Given the description of an element on the screen output the (x, y) to click on. 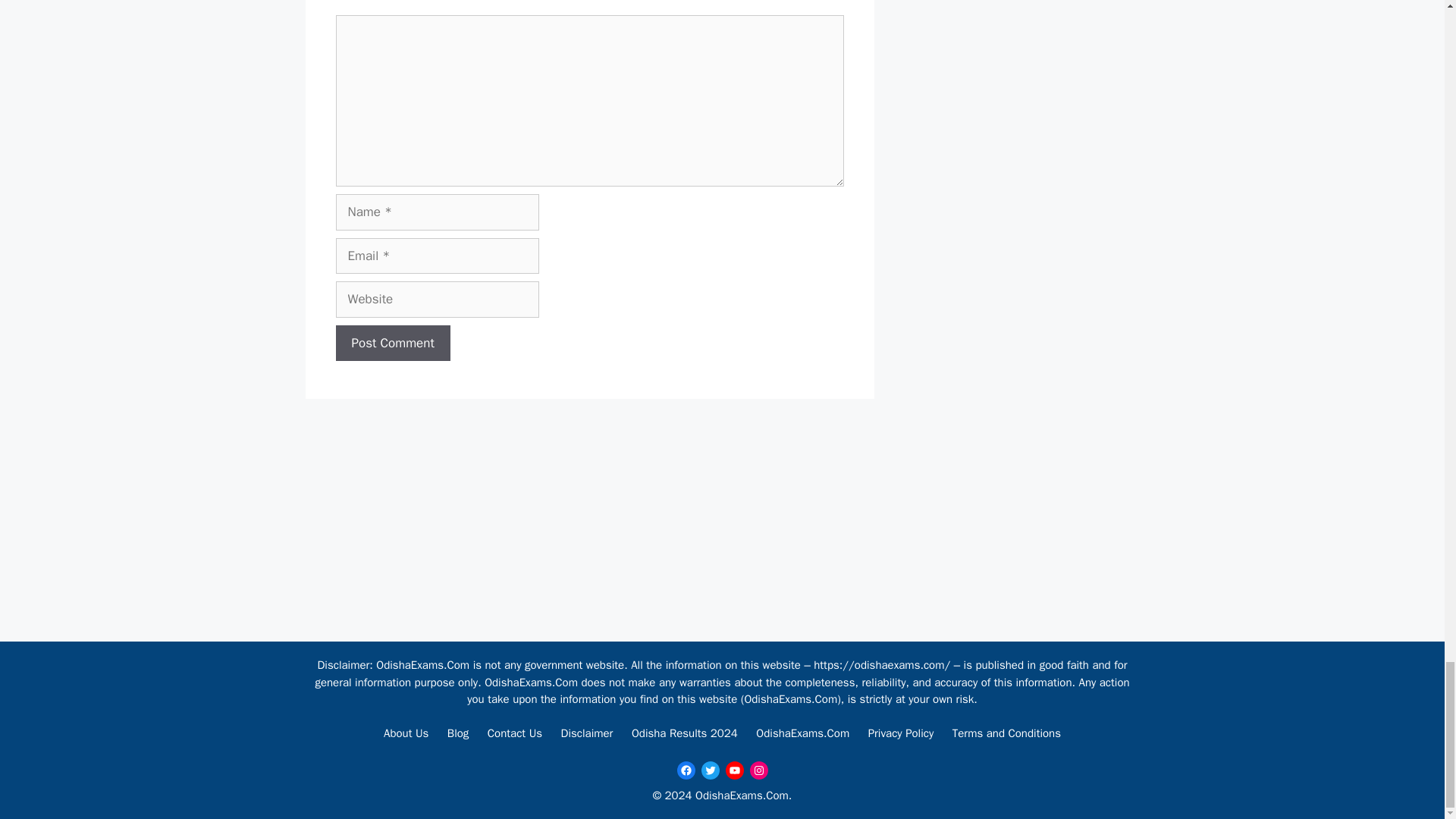
Post Comment (391, 343)
